Given the description of an element on the screen output the (x, y) to click on. 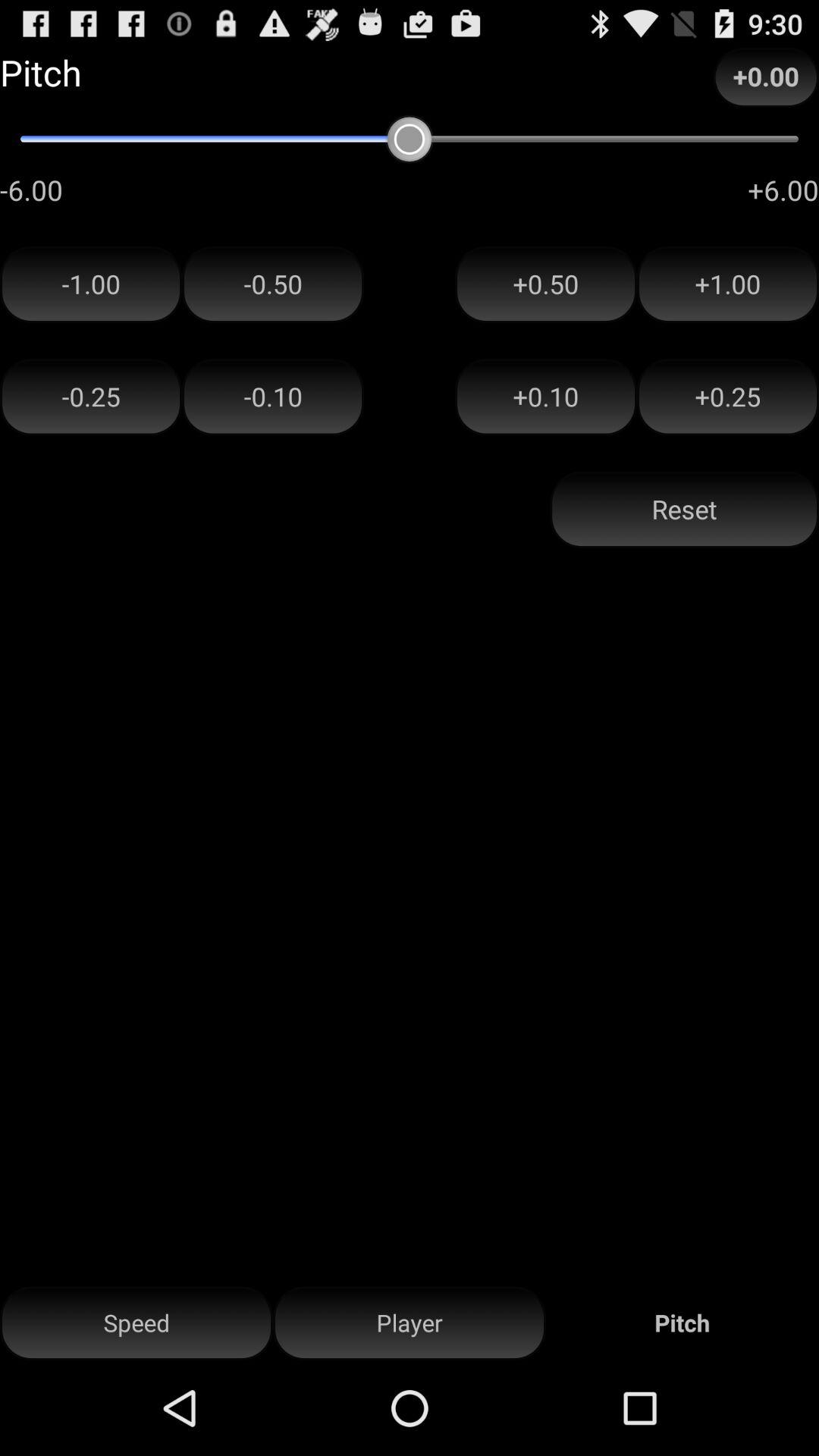
flip until speed item (136, 1323)
